Given the description of an element on the screen output the (x, y) to click on. 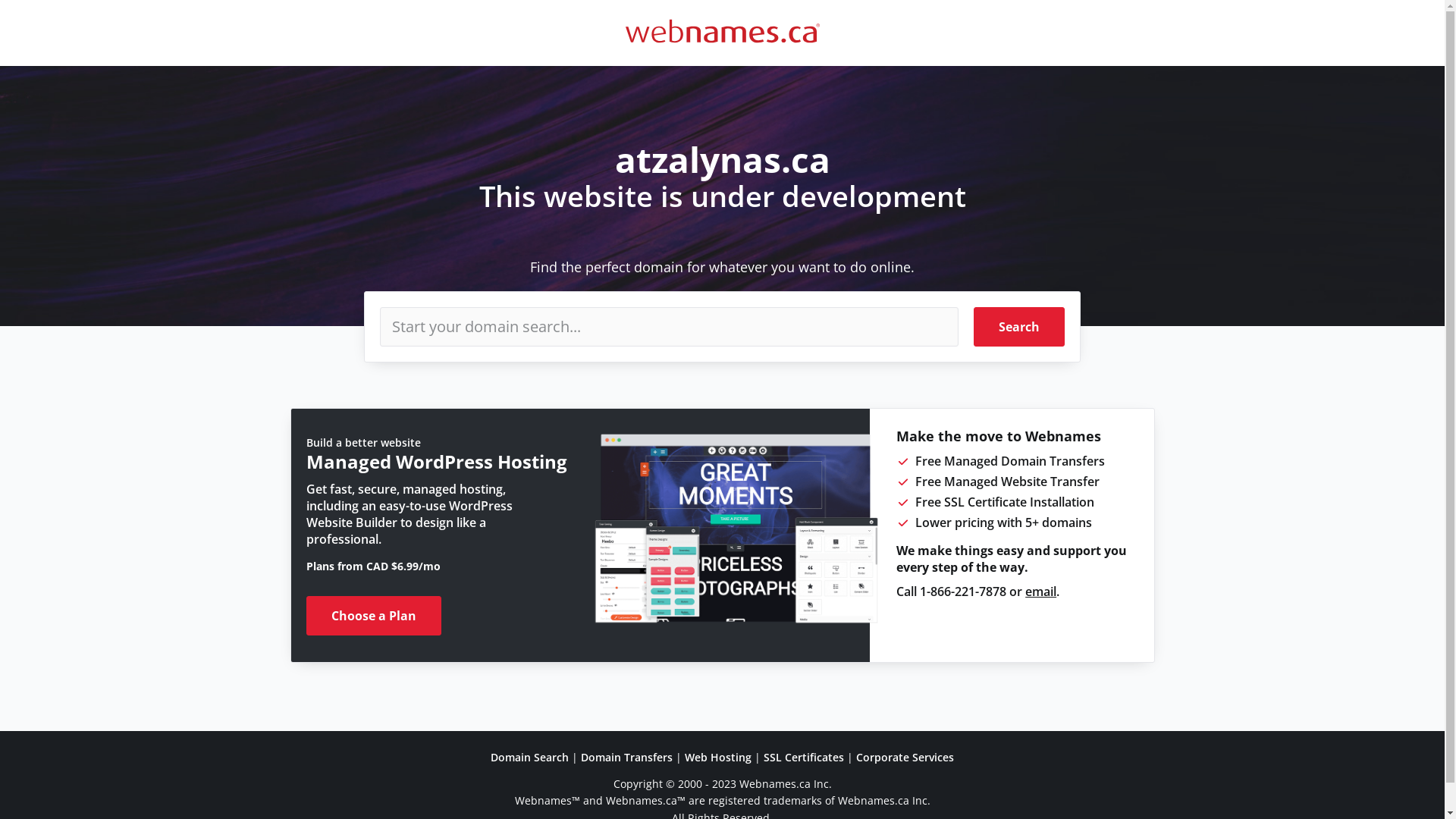
Corporate Services Element type: text (904, 756)
Domain Transfers Element type: text (626, 756)
Domain Search Element type: text (529, 756)
Search Element type: text (1018, 326)
Web Hosting Element type: text (717, 756)
1-866-221-7878 Element type: text (962, 591)
Choose a Plan Element type: text (373, 615)
email Element type: text (1040, 591)
SSL Certificates Element type: text (803, 756)
